Given the description of an element on the screen output the (x, y) to click on. 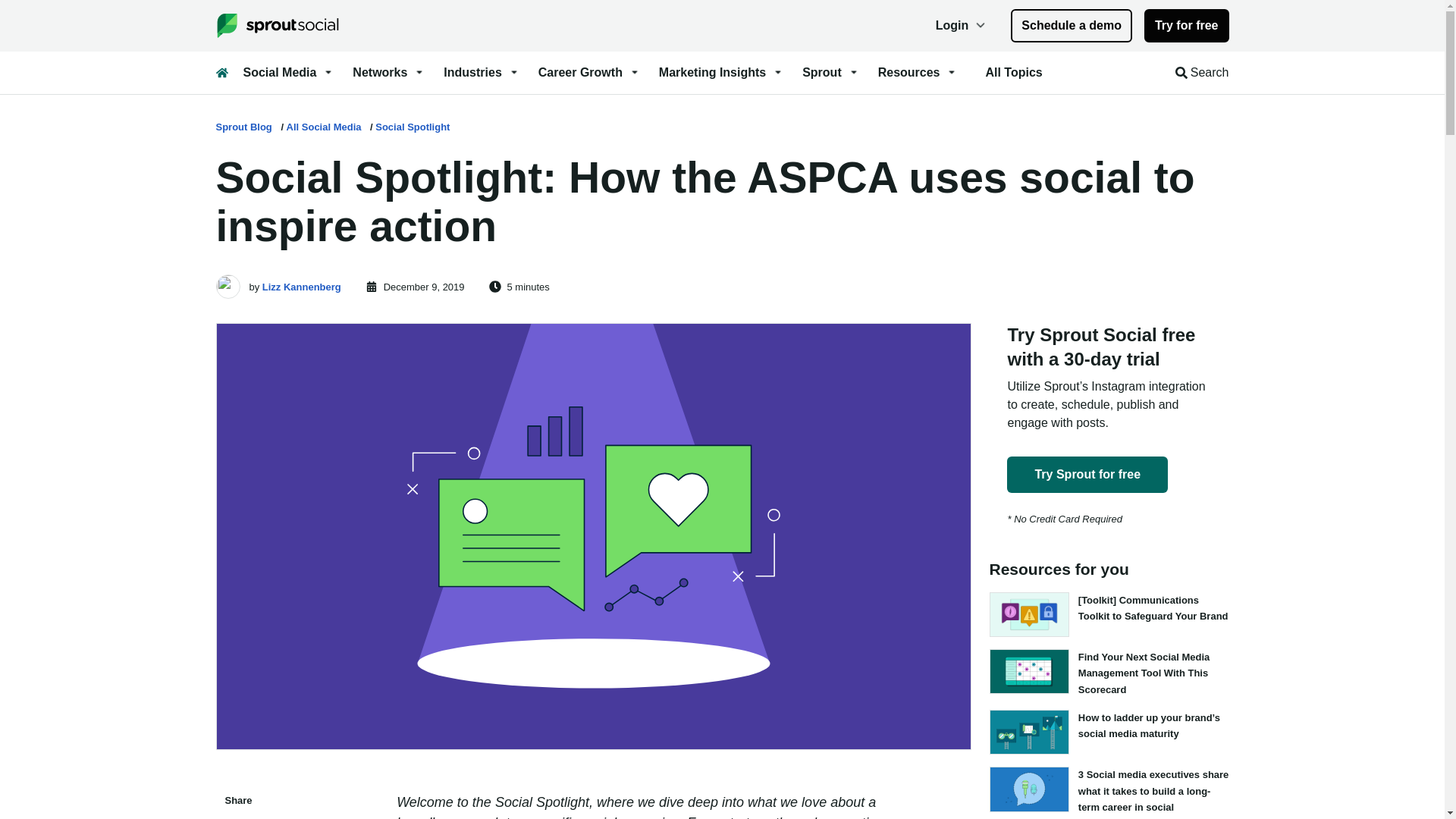
Open Resources menu (917, 72)
Try for free (1186, 25)
Blog Home (221, 72)
Open Networks menu (388, 72)
Networks (388, 72)
Login (961, 25)
Sprout Social (282, 25)
Open Login Menu (961, 25)
Open Marketing Insights menu (721, 72)
Schedule a demo (1071, 25)
Open Sprout menu (831, 72)
Open Career Growth menu (589, 72)
Open Social Media menu (288, 72)
Open Industries menu (481, 72)
Social Media (288, 72)
